Given the description of an element on the screen output the (x, y) to click on. 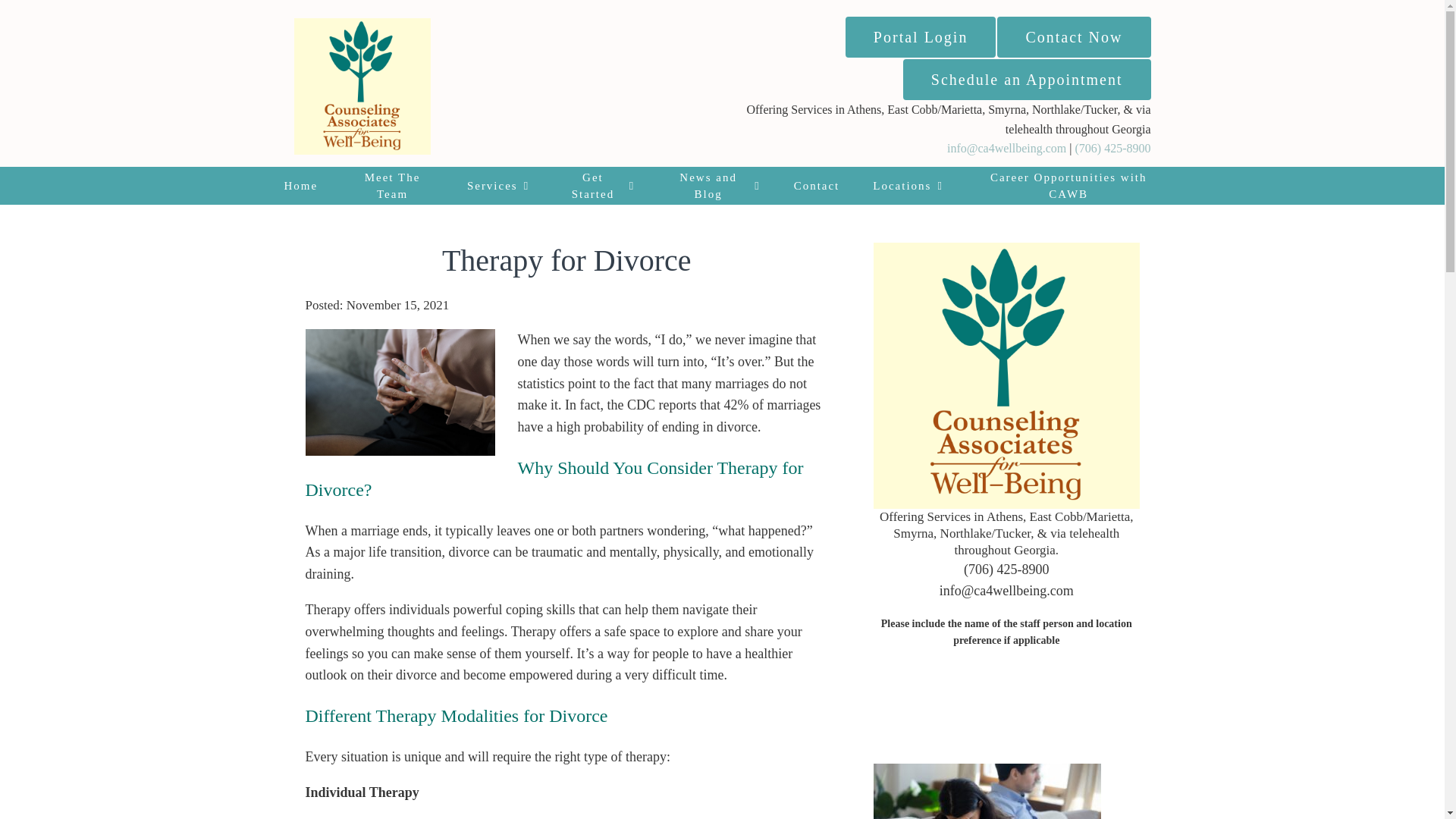
Meet The Team (391, 185)
Portal Login (920, 36)
Locations (907, 185)
Contact Now (1073, 36)
Career Opportunities with CAWB (1068, 185)
Contact (817, 185)
Services (497, 185)
News and Blog (713, 185)
Home (300, 185)
Get Started (598, 185)
